Given the description of an element on the screen output the (x, y) to click on. 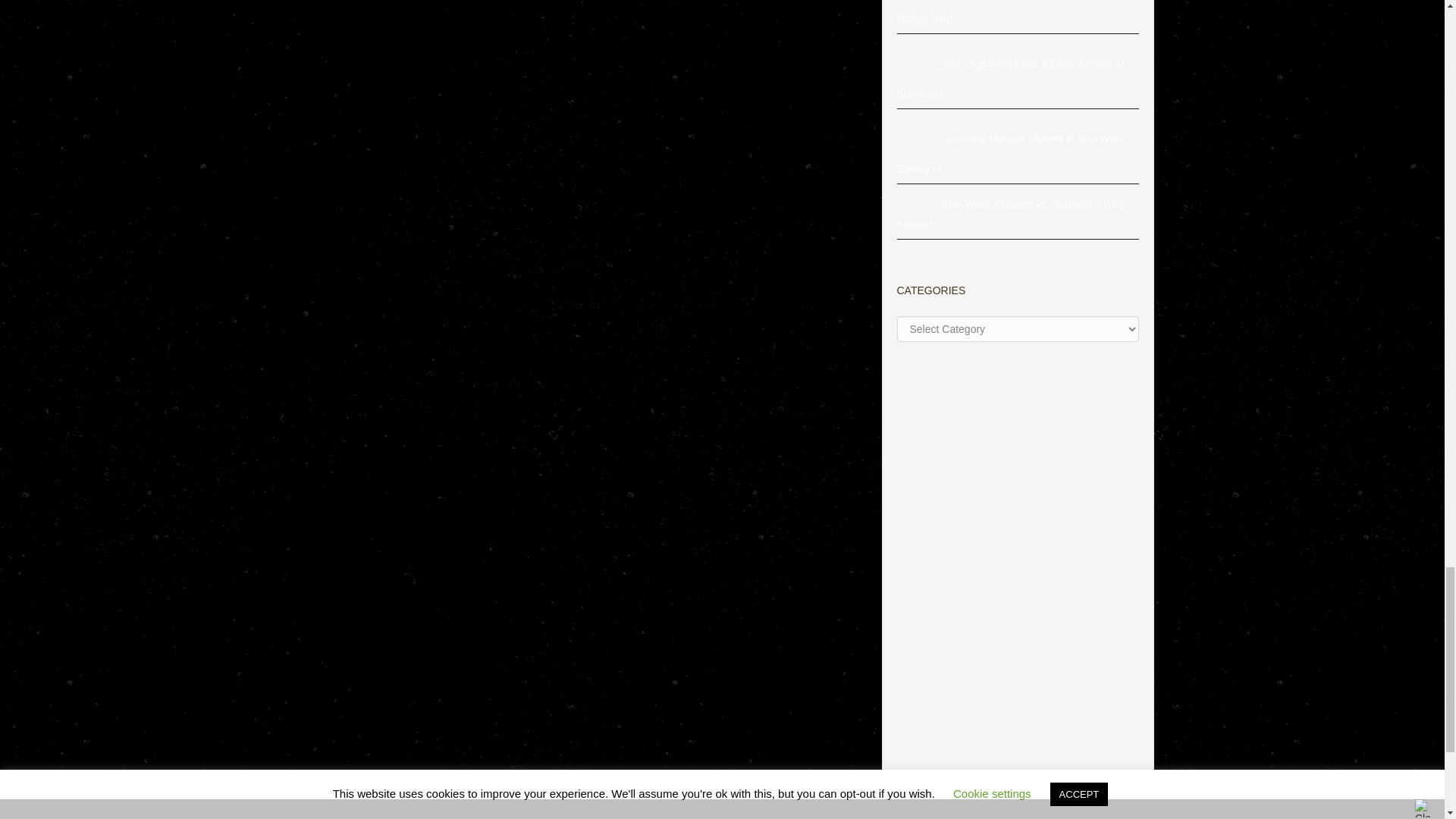
SWGoH: Ultimate Guide to the Battle for Naboo Raid (919, 6)
